Given the description of an element on the screen output the (x, y) to click on. 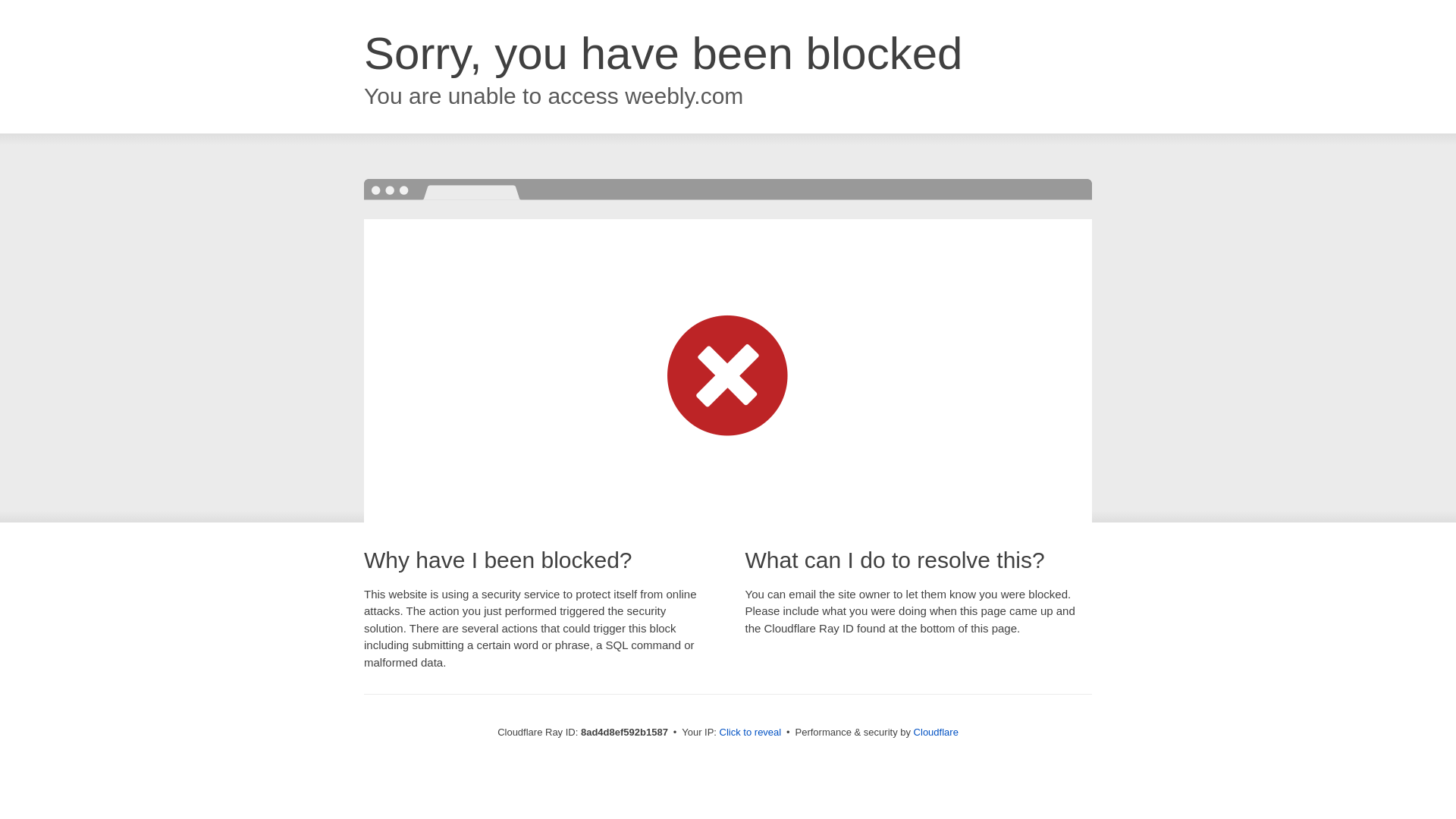
Click to reveal (750, 732)
Cloudflare (936, 731)
